Given the description of an element on the screen output the (x, y) to click on. 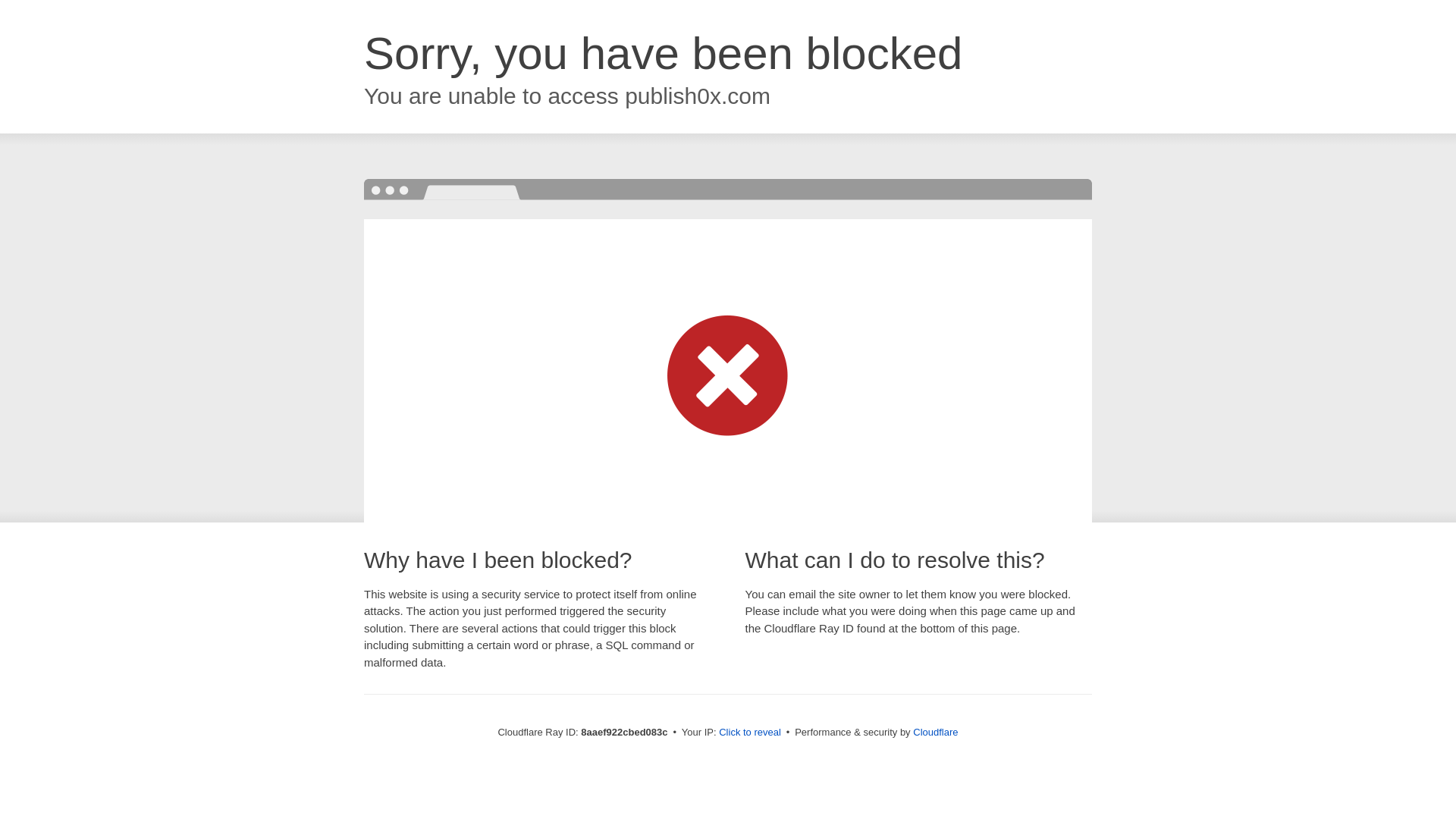
Cloudflare (935, 731)
Click to reveal (749, 732)
